Given the description of an element on the screen output the (x, y) to click on. 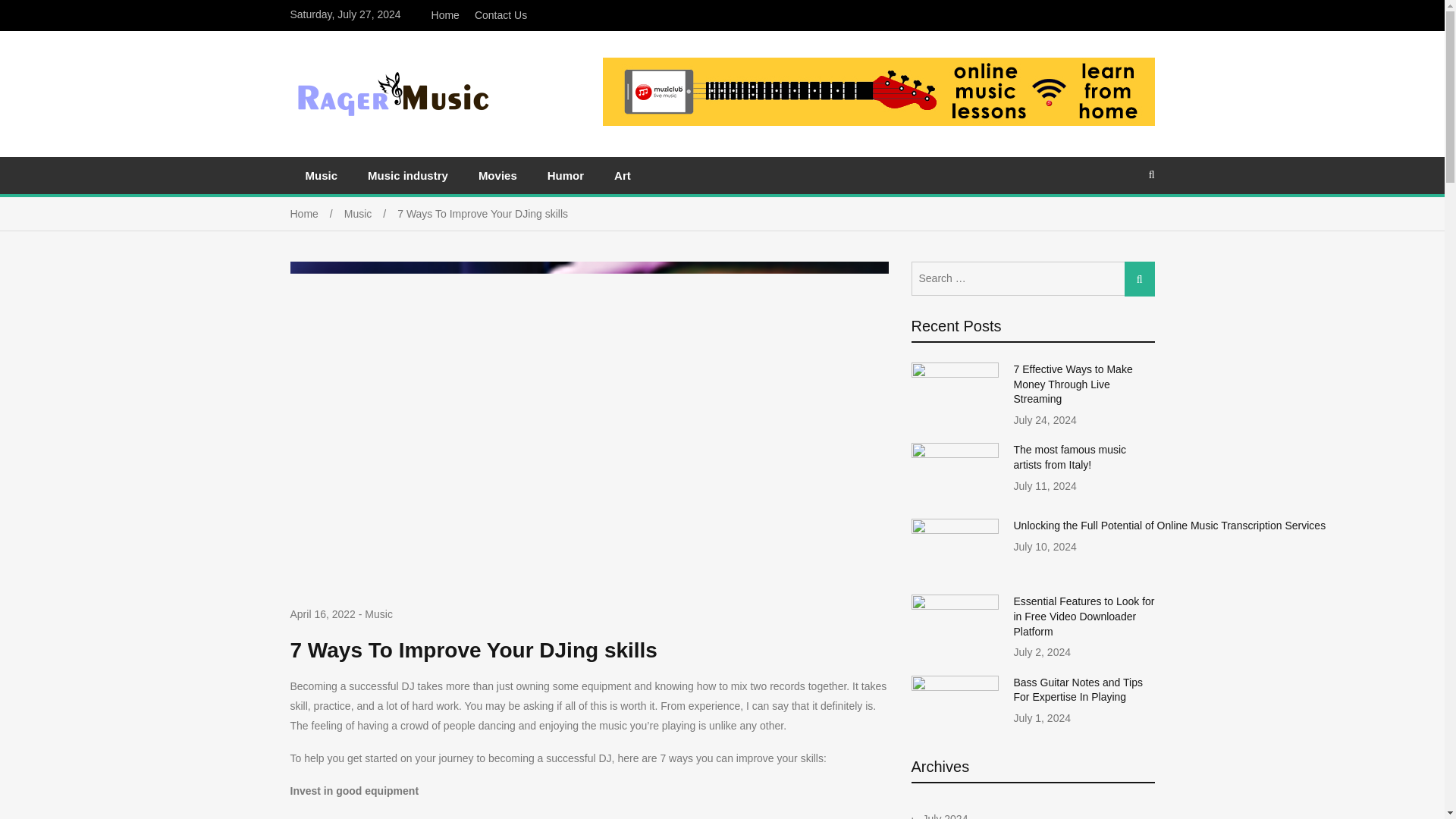
7 Effective Ways to Make Money Through Live Streaming (1072, 383)
Art (622, 175)
Music (320, 175)
Home (445, 15)
The most famous music artists from Italy! (1069, 456)
Home (316, 214)
Contact Us (500, 15)
Humor (565, 175)
Music industry (407, 175)
Music (379, 613)
Movies (497, 175)
Music (370, 214)
April 16, 2022 (322, 614)
